Given the description of an element on the screen output the (x, y) to click on. 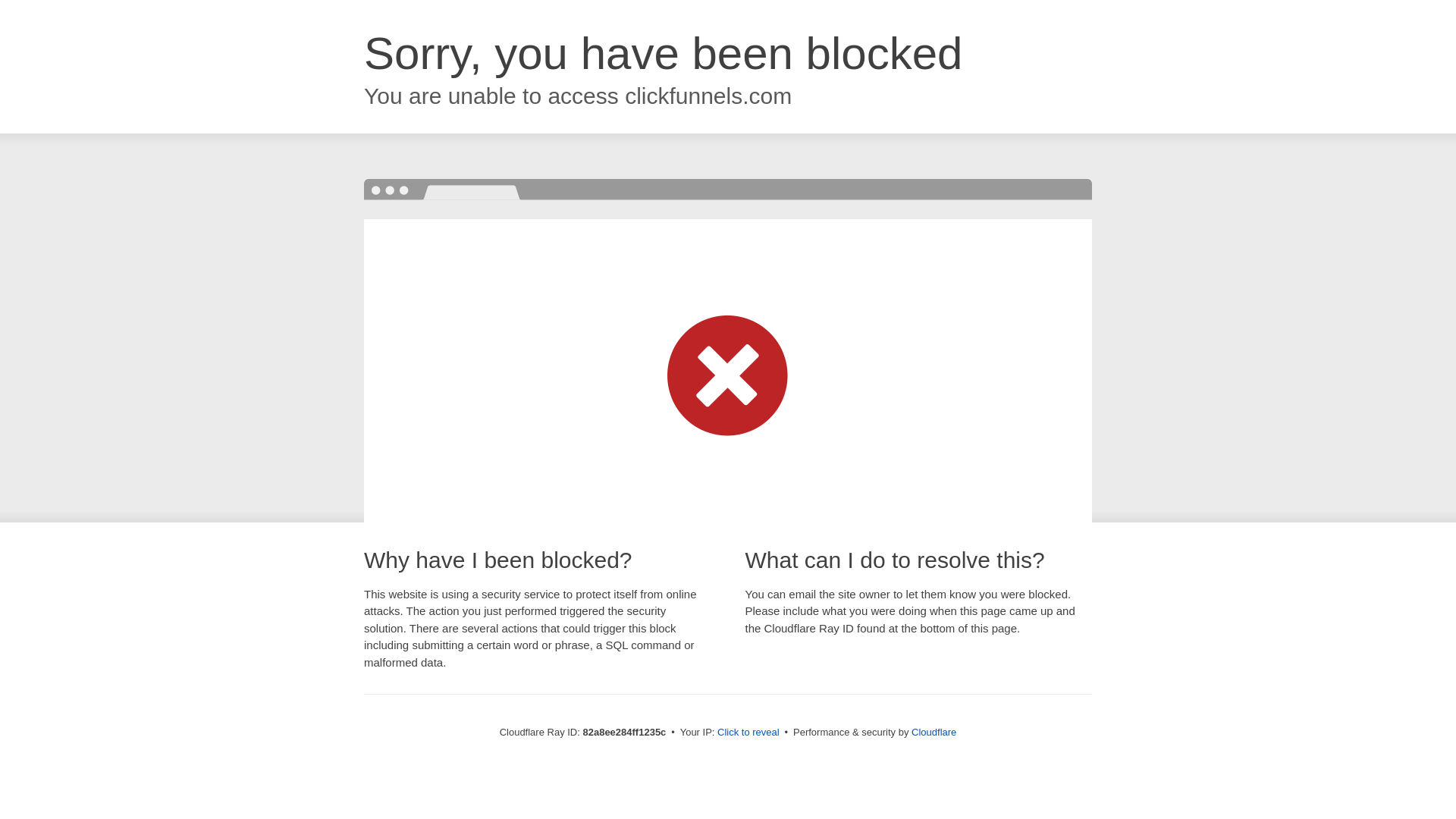
Cloudflare Element type: text (933, 731)
Click to reveal Element type: text (748, 732)
